Given the description of an element on the screen output the (x, y) to click on. 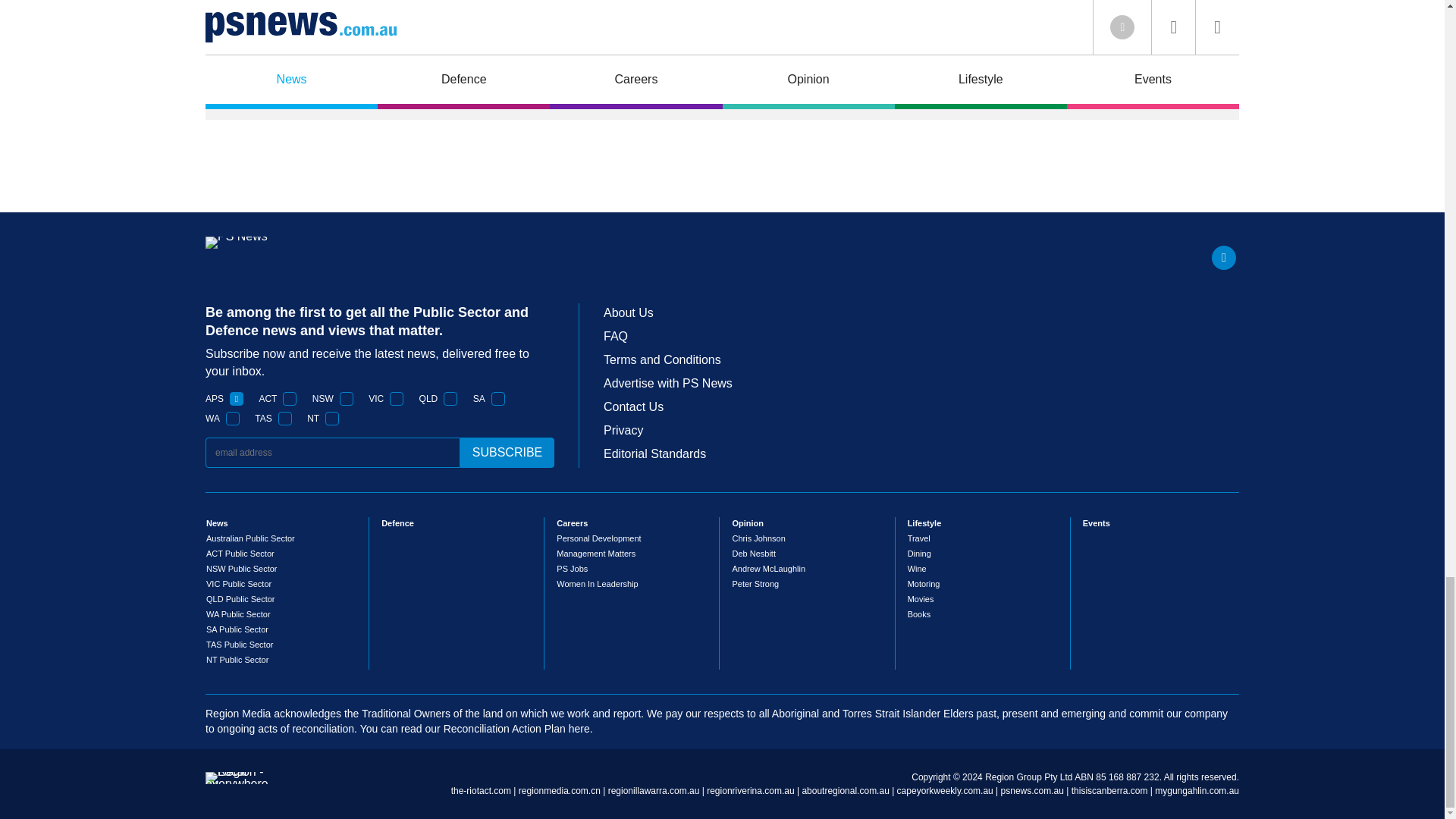
1 (498, 398)
1 (236, 398)
1 (450, 398)
1 (285, 418)
Region - Local everywhere (236, 784)
1 (232, 418)
1 (331, 418)
1 (346, 398)
1 (396, 398)
subscribe (507, 452)
